Given the description of an element on the screen output the (x, y) to click on. 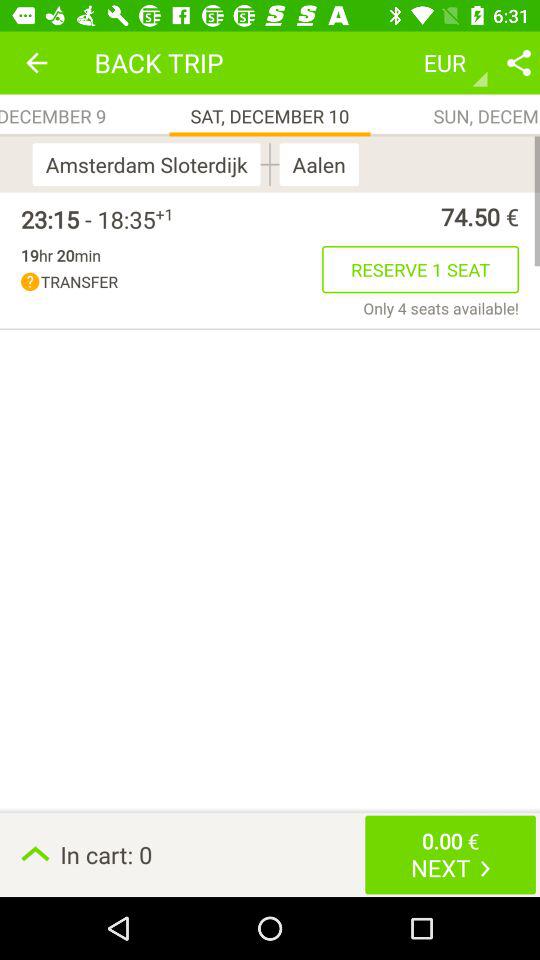
press icon to the right of transfer icon (420, 269)
